Given the description of an element on the screen output the (x, y) to click on. 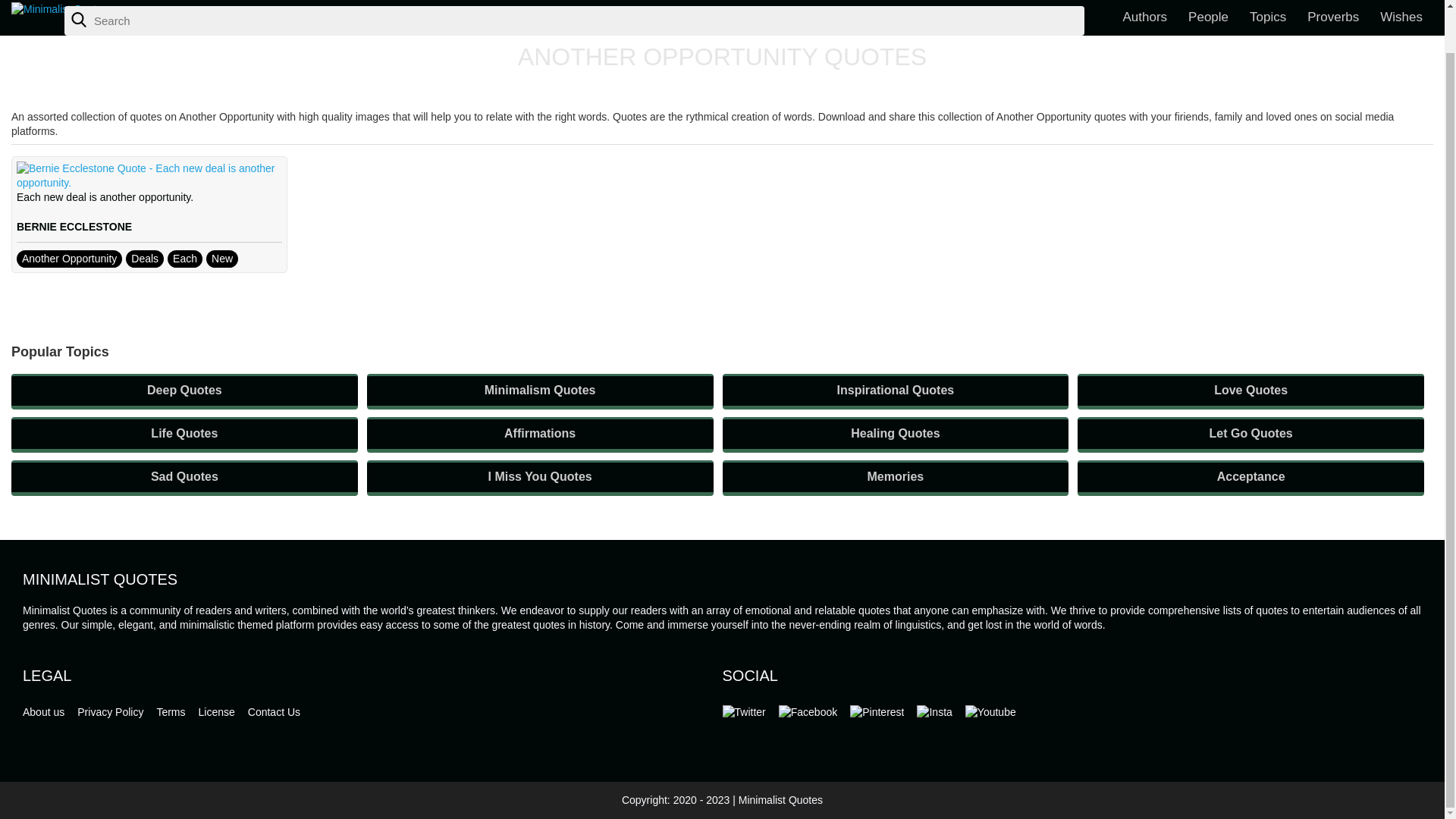
Love Quotes (1250, 391)
Follow Us on Twitter! (743, 712)
I Miss You Quotes (539, 478)
Insta (934, 712)
Life Quotes (184, 434)
Youtube (990, 712)
License (216, 711)
Memories (895, 478)
BERNIE ECCLESTONE (74, 226)
Another Opportunity (69, 258)
